Given the description of an element on the screen output the (x, y) to click on. 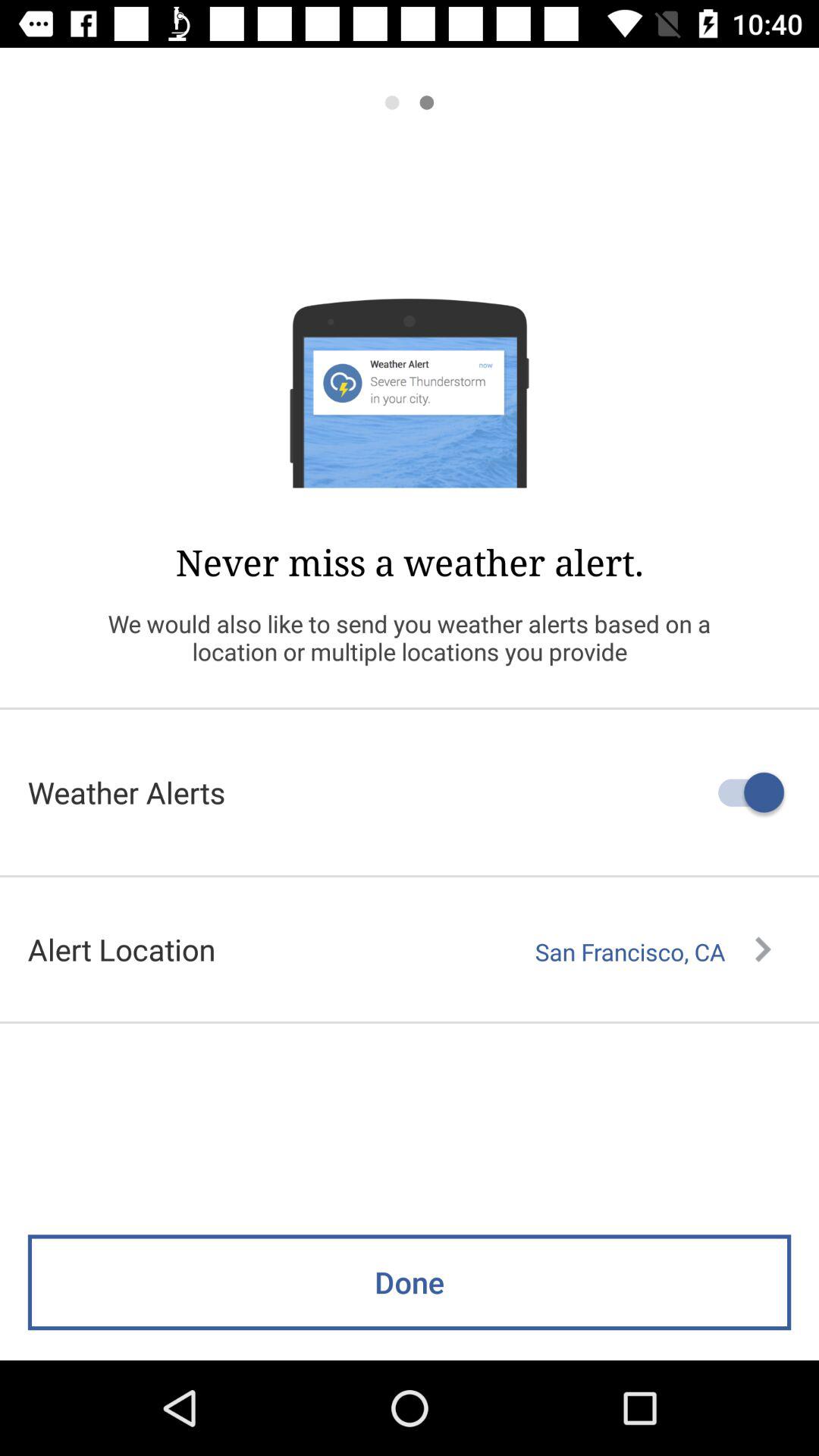
launch the icon to the right of alert location (653, 951)
